Given the description of an element on the screen output the (x, y) to click on. 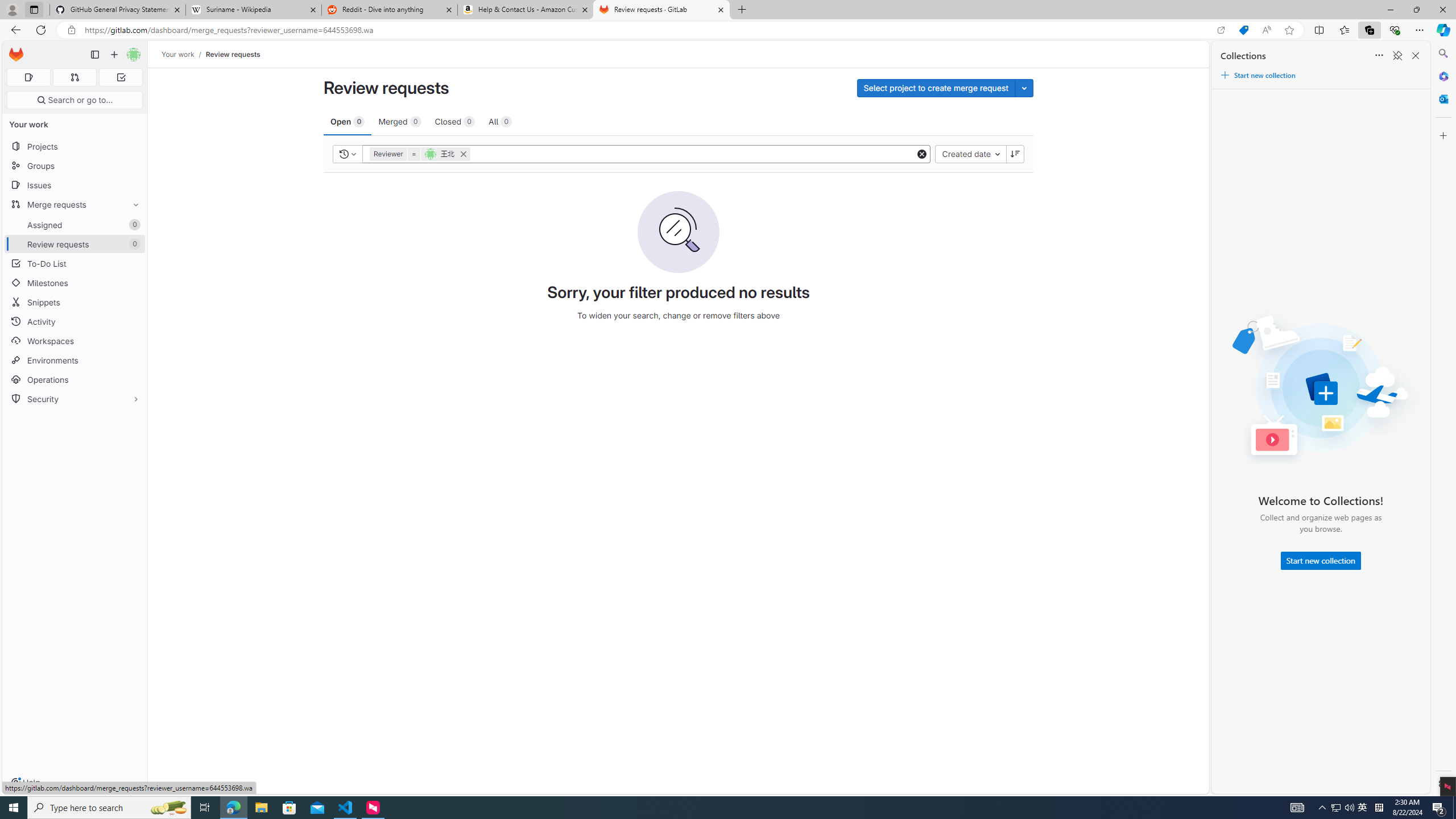
Class: s16 gl-icon gl-button-icon  (1014, 153)
Assigned issues 0 (28, 76)
Merge requests (74, 203)
Operations (74, 379)
Class: s16 close-icon (462, 153)
Merge requests 0 (74, 76)
Review requests (232, 53)
Security (74, 398)
